Given the description of an element on the screen output the (x, y) to click on. 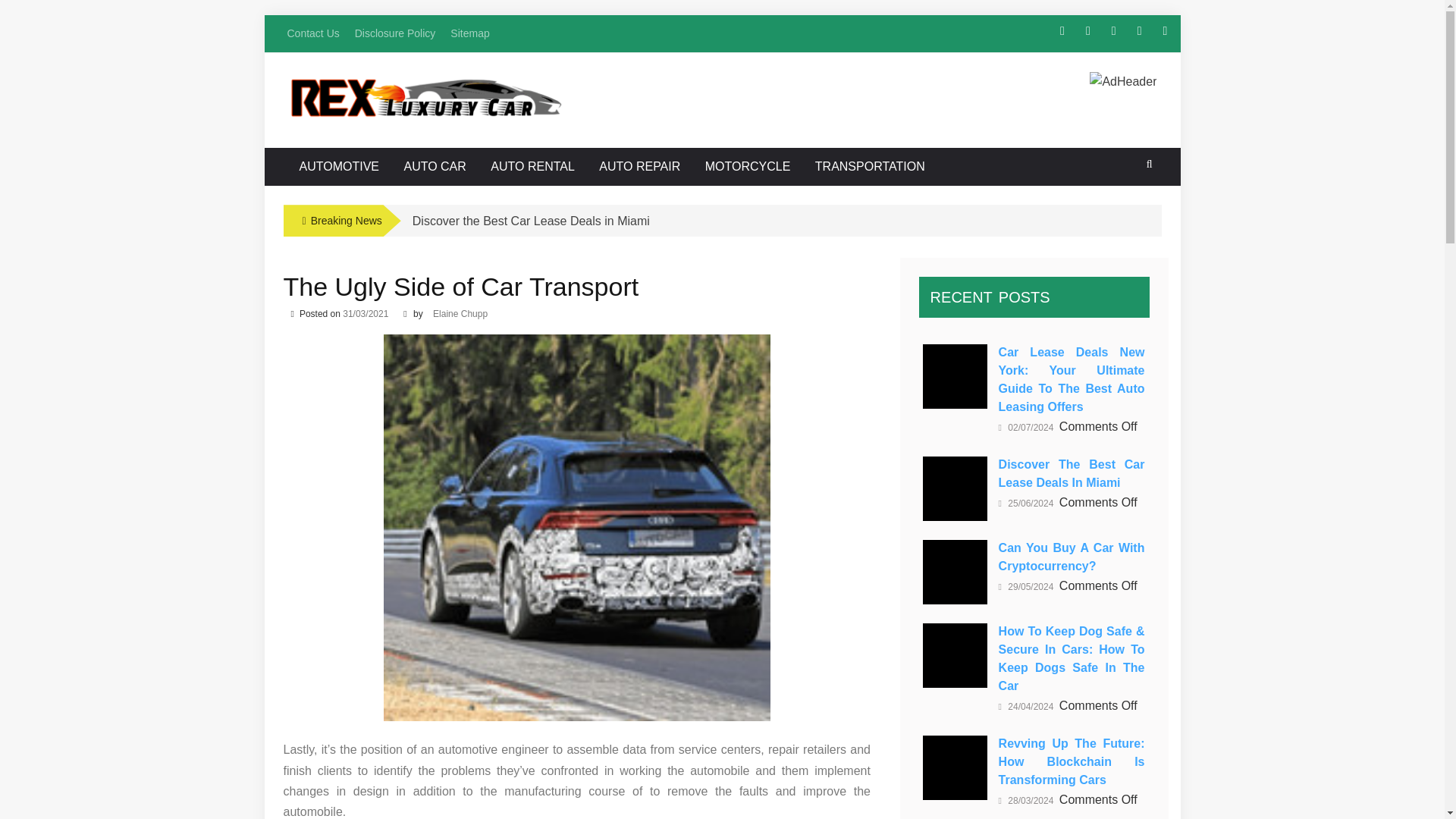
MOTORCYCLE (748, 166)
Revving Up the Future: How Blockchain is Transforming Cars (955, 767)
Contact Us (312, 33)
REX AUTOMOTIVE (416, 101)
TRANSPORTATION (869, 166)
AUTO RENTAL (532, 166)
Discover the Best Car Lease Deals in Miami (955, 488)
AUTO CAR (434, 166)
Sitemap (469, 33)
Discover the Best Car Lease Deals in Miami (530, 220)
AUTOMOTIVE (339, 166)
AUTO REPAIR (639, 166)
Can You Buy A Car With Cryptocurrency? (955, 571)
